Given the description of an element on the screen output the (x, y) to click on. 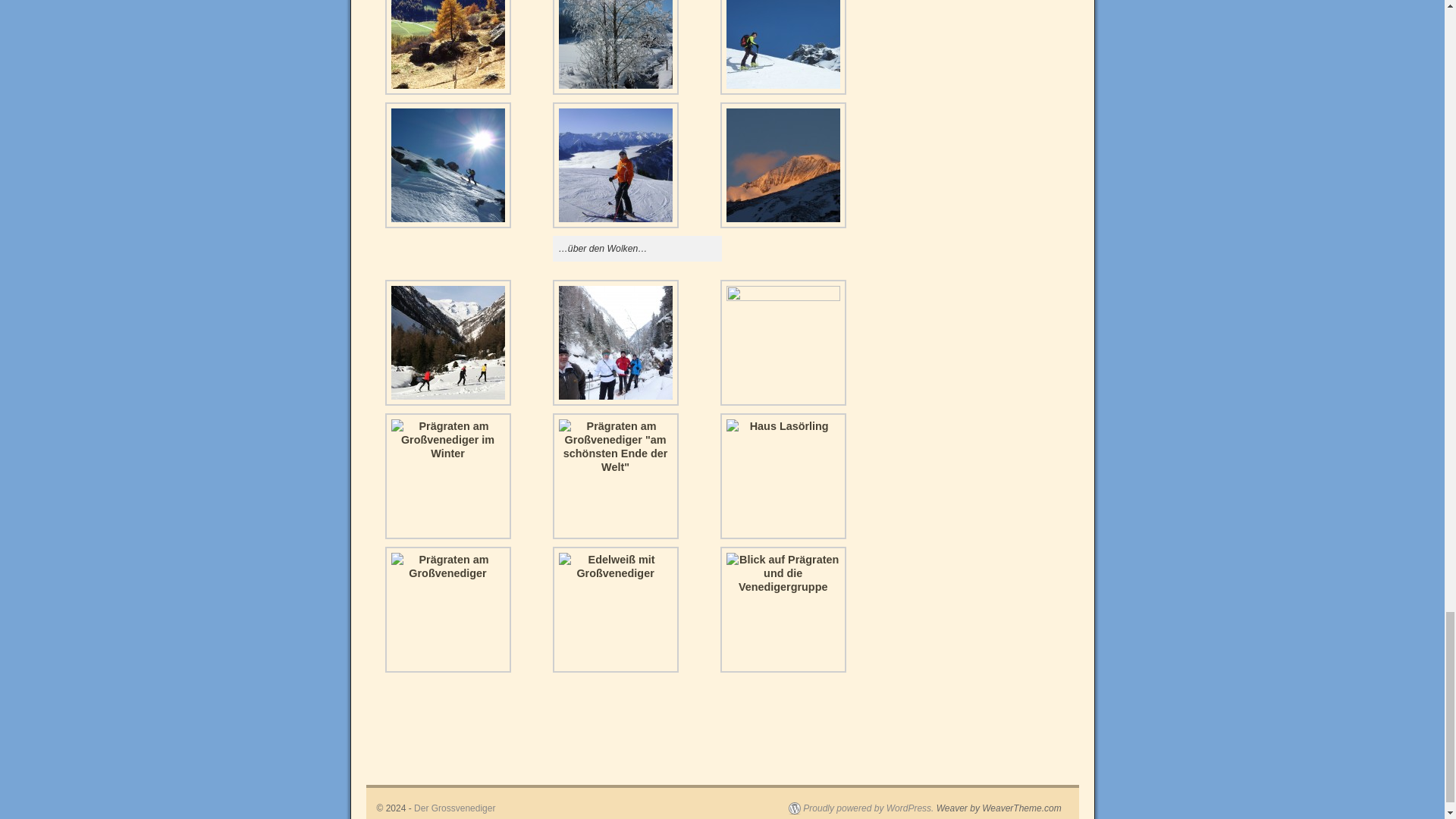
Semantic Personal Publishing Platform (861, 808)
Der Grossvenediger (454, 808)
